Given the description of an element on the screen output the (x, y) to click on. 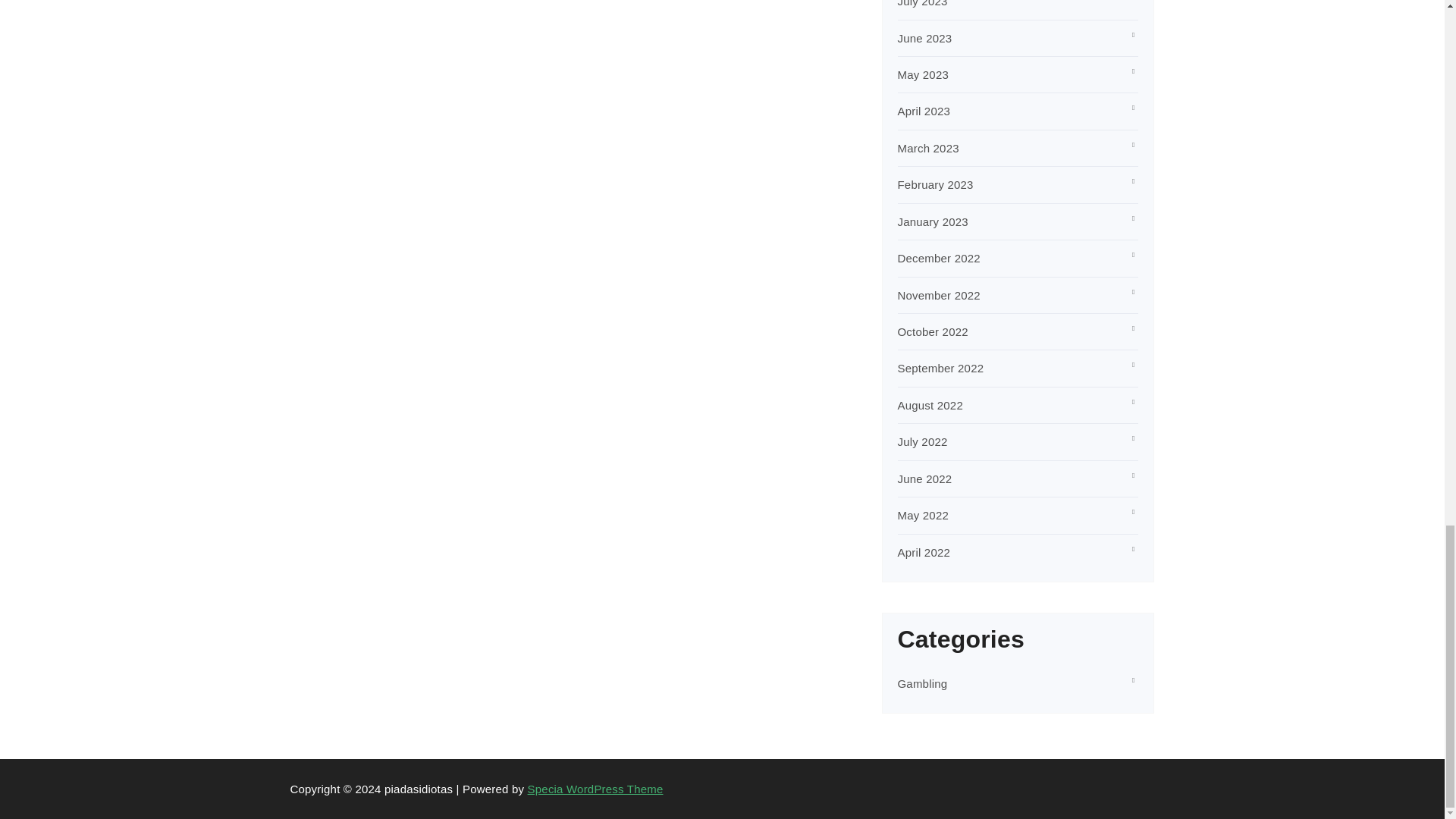
July 2023 (922, 3)
May 2023 (923, 74)
February 2023 (936, 184)
June 2023 (925, 38)
April 2023 (924, 110)
March 2023 (928, 147)
